Given the description of an element on the screen output the (x, y) to click on. 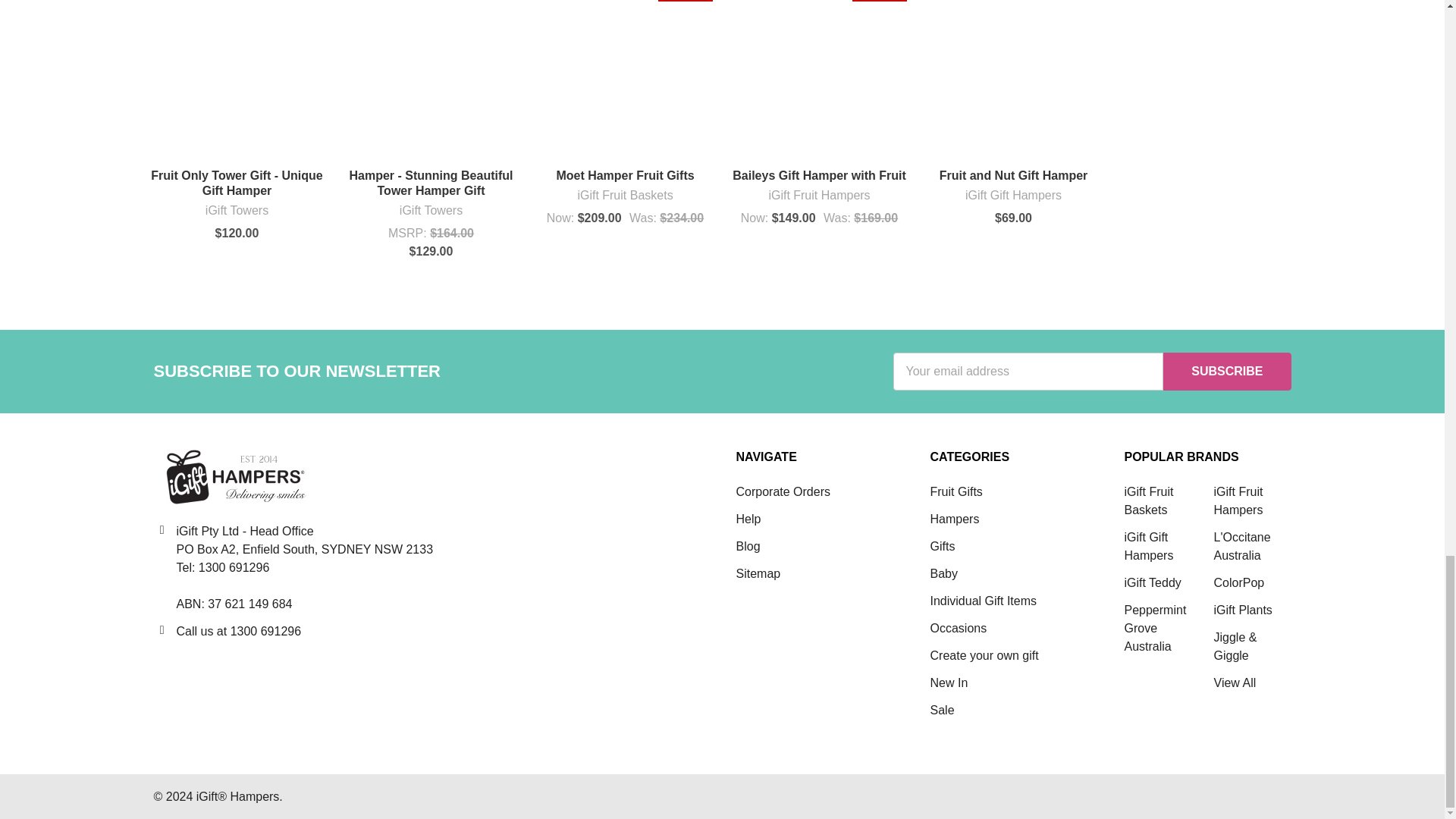
Fruit Only Tower Gift - Unique Gift Hamper (236, 79)
Subscribe (1226, 371)
igiftFRUITHAMPERS (233, 476)
Baileys Gift Hamper with Fruit (819, 79)
Hamper - Stunning Beautiful Tower Hamper Gift (430, 79)
Fruit and Nut Gift Hamper (1013, 79)
